Given the description of an element on the screen output the (x, y) to click on. 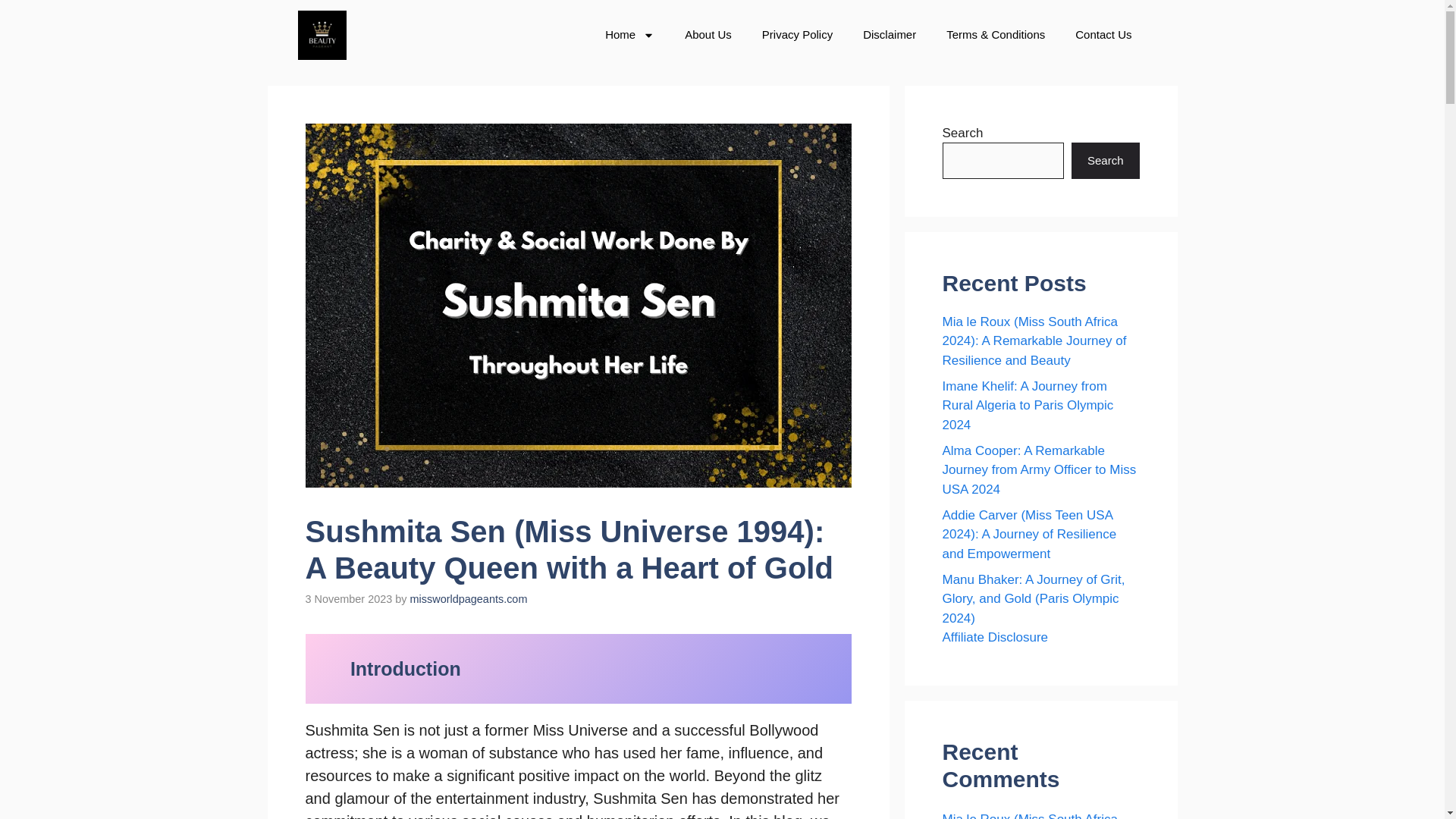
Privacy Policy (796, 34)
View all posts by missworldpageants.com (468, 598)
missworldpageants.com (468, 598)
Contact Us (1103, 34)
Home (629, 34)
Disclaimer (889, 34)
About Us (707, 34)
